Given the description of an element on the screen output the (x, y) to click on. 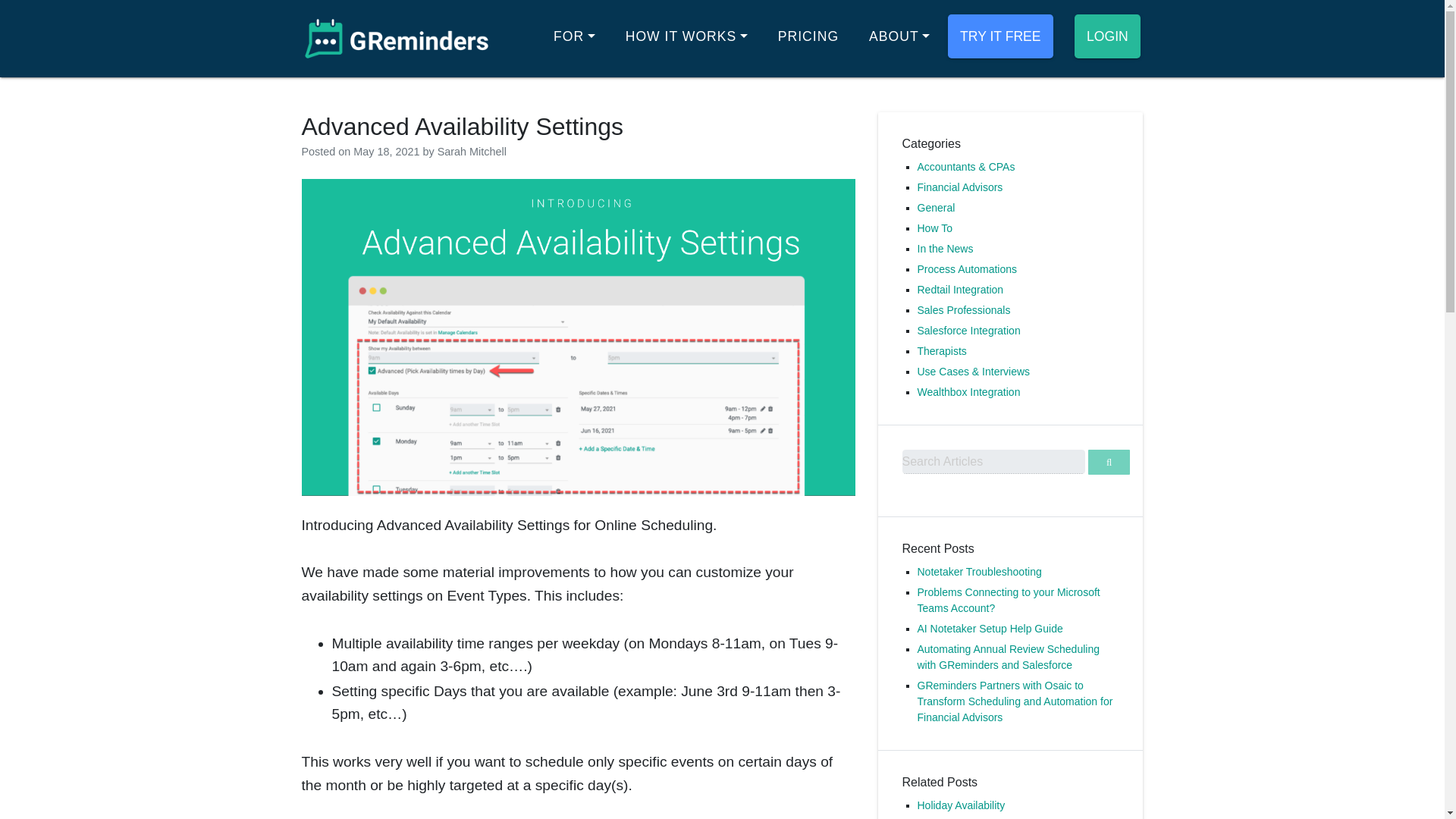
HOW IT WORKS (686, 36)
HOW IT WORKS (686, 36)
FOR (574, 36)
May 18, 2021 (386, 151)
PRICING (807, 36)
FOR (574, 36)
ABOUT (899, 36)
LOGIN (1107, 36)
ABOUT (899, 36)
Sarah Mitchell (472, 151)
